Given the description of an element on the screen output the (x, y) to click on. 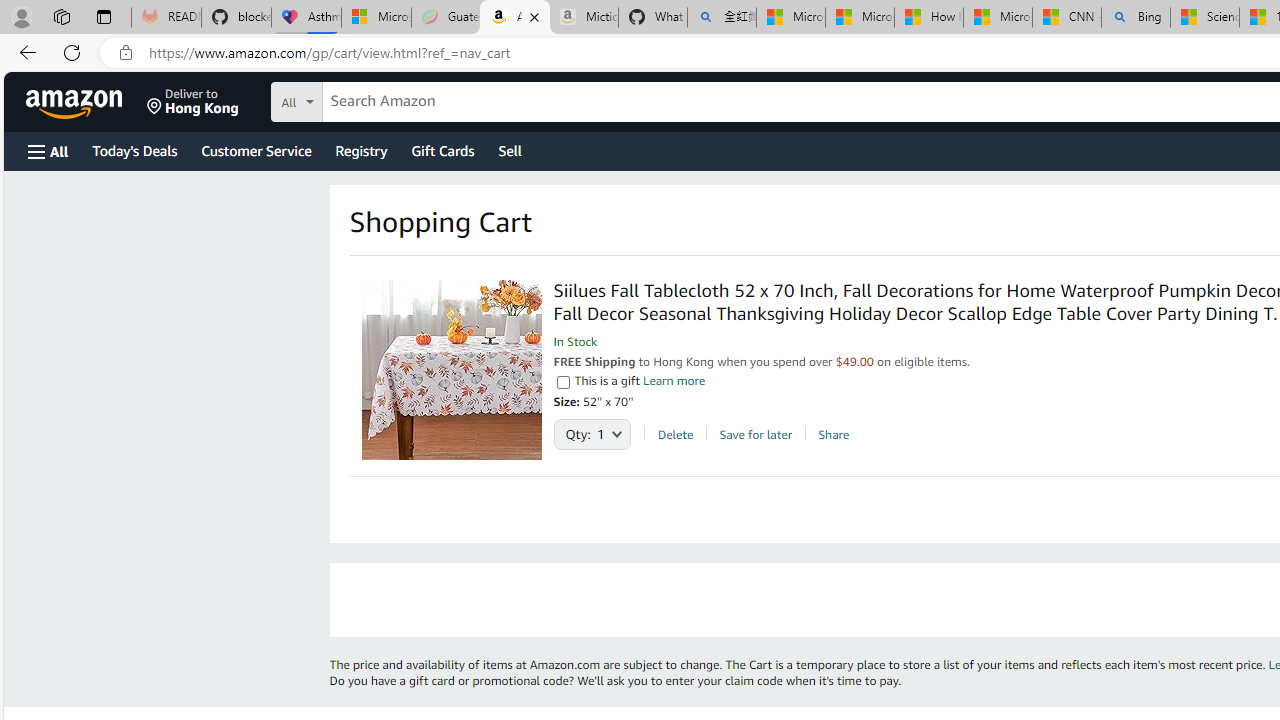
Skip to main content (86, 100)
Registry (360, 150)
Customer Service (256, 150)
Science - MSN (1205, 17)
Search in (371, 102)
Today's Deals (134, 150)
How I Got Rid of Microsoft Edge's Unnecessary Features (928, 17)
Amazon.com Shopping Cart (515, 17)
